Given the description of an element on the screen output the (x, y) to click on. 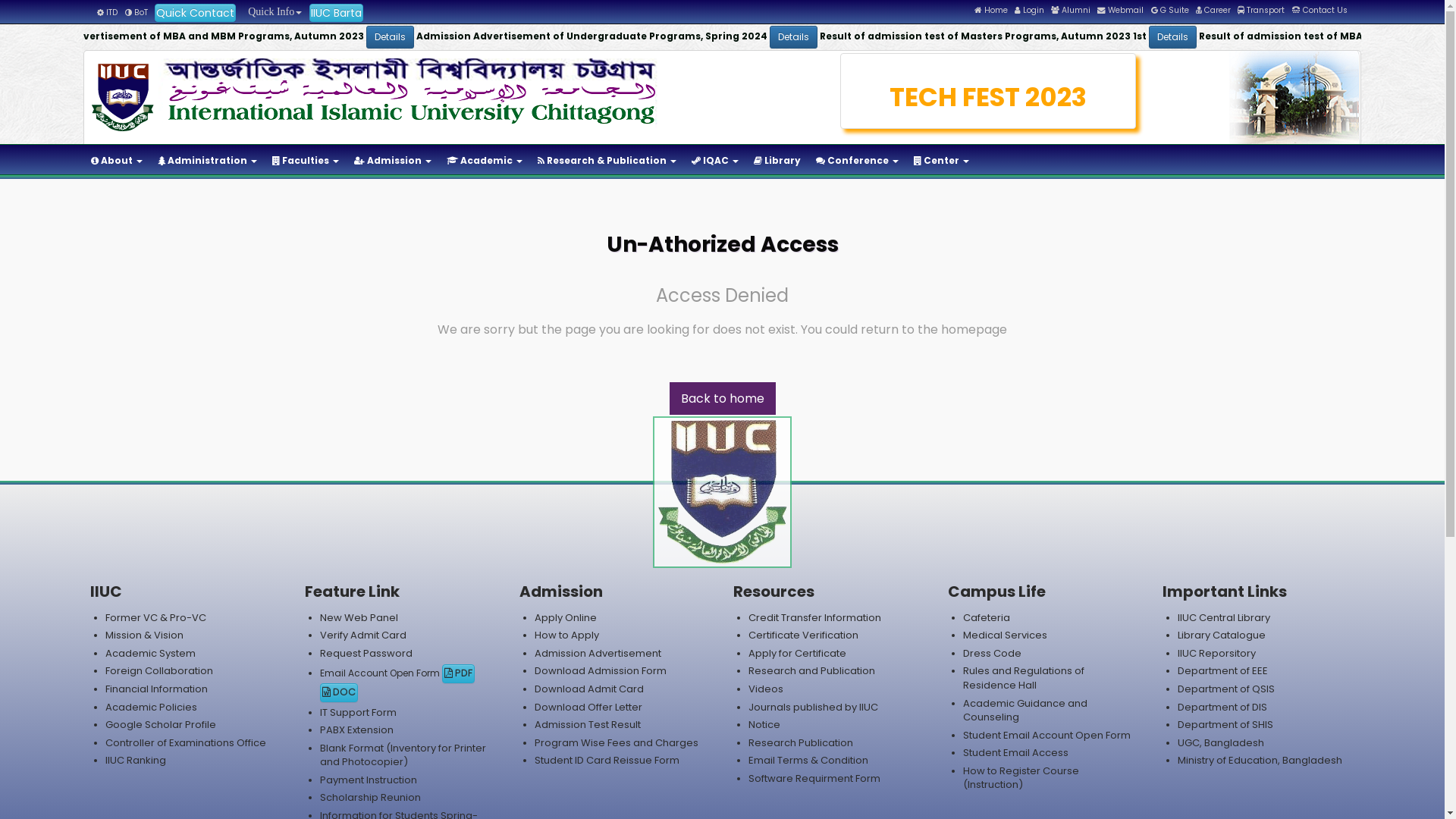
Alumni Element type: text (1070, 9)
Research and Publication Element type: text (811, 670)
Details Element type: text (272, 36)
PABX Extension Element type: text (356, 729)
Admission Test Result Element type: text (587, 724)
Home Element type: text (990, 9)
UGC, Bangladesh Element type: text (1220, 742)
PDF Element type: text (458, 673)
Controller of Examinations Office Element type: text (185, 742)
Conference Element type: text (857, 160)
IIUC Ranking Element type: text (135, 760)
Download Offer Letter Element type: text (588, 706)
Medical Services Element type: text (1005, 634)
Financial Information Element type: text (156, 688)
Administration Element type: text (207, 160)
Center Element type: text (941, 160)
Research Publication Element type: text (800, 742)
Academic Policies Element type: text (151, 706)
Rules and Regulations of Residence Hall Element type: text (1023, 677)
Academic Element type: text (484, 160)
Admission Advertisement Element type: text (597, 653)
Cafeteria Element type: text (986, 617)
IT Support Form Element type: text (358, 712)
Admission Element type: text (392, 160)
IIUC Reporsitory Element type: text (1216, 653)
IIUC Barta Element type: text (336, 12)
Payment Instruction Element type: text (368, 779)
Career Element type: text (1212, 9)
Email Terms & Condition Element type: text (808, 760)
Former VC & Pro-VC Element type: text (155, 617)
Software Requirment Form Element type: text (814, 778)
Department of QSIS Element type: text (1225, 688)
How to Register Course (Instruction) Element type: text (1021, 777)
Library Element type: text (777, 160)
Foreign Collaboration Element type: text (159, 670)
Contact Us Element type: text (1319, 9)
Blank Format (Inventory for Printer and Photocopier) Element type: text (403, 754)
Details Element type: text (671, 36)
Academic Guidance and Counseling Element type: text (1025, 710)
New Web Panel Element type: text (359, 617)
Academic System Element type: text (150, 653)
Webmail Element type: text (1120, 9)
Download Admission Form Element type: text (600, 670)
Student ID Card Reissue Form Element type: text (606, 760)
Scholarship Reunion Element type: text (370, 797)
Videos Element type: text (765, 688)
Quick Contact Element type: text (194, 12)
Details Element type: text (1046, 36)
Faculties Element type: text (305, 160)
Department of EEE Element type: text (1222, 670)
Verify Admit Card Element type: text (363, 634)
How to Apply Element type: text (566, 634)
Google Scholar Profile Element type: text (160, 724)
Notice Element type: text (764, 724)
Dress Code Element type: text (992, 653)
Certificate Verification Element type: text (803, 634)
Journals published by IIUC Element type: text (813, 706)
Back to home Element type: text (721, 398)
Student Email Access Element type: text (1015, 752)
Student Email Account Open Form Element type: text (1046, 735)
Credit Transfer Information Element type: text (814, 617)
Request Password Element type: text (366, 653)
Mission & Vision Element type: text (144, 634)
Library Catalogue Element type: text (1221, 634)
Transport Element type: text (1260, 9)
Apply for Certificate Element type: text (797, 653)
Login Element type: text (1029, 9)
Download Admit Card Element type: text (588, 688)
TECH FEST 2023 Element type: text (988, 97)
Department of DIS Element type: text (1222, 706)
Program Wise Fees and Charges Element type: text (616, 742)
  Quick Info Element type: text (271, 11)
IIUC Central Library Element type: text (1223, 617)
Research & Publication Element type: text (607, 160)
BoT Element type: text (136, 12)
Department of SHIS Element type: text (1225, 724)
About Element type: text (116, 160)
IQAC Element type: text (715, 160)
Ministry of Education, Bangladesh Element type: text (1259, 760)
Apply Online Element type: text (565, 617)
DOC Element type: text (338, 692)
ITD Element type: text (107, 12)
G Suite Element type: text (1170, 9)
